Given the description of an element on the screen output the (x, y) to click on. 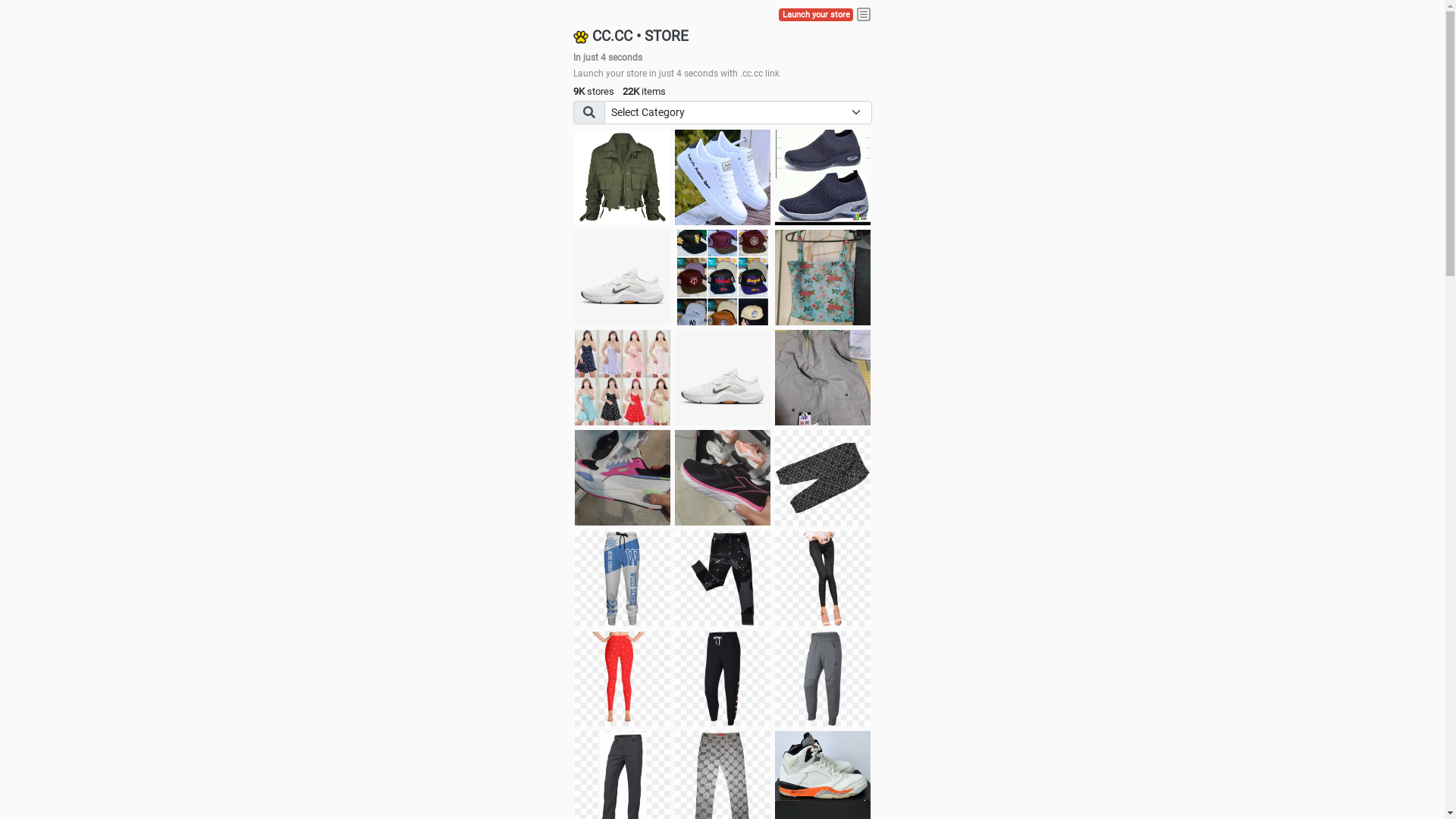
Pant Element type: hover (822, 578)
Zapatillas pumas Element type: hover (622, 477)
Ukay cloth Element type: hover (822, 277)
white shoes Element type: hover (722, 177)
Pant Element type: hover (822, 678)
Short pant Element type: hover (822, 477)
Shoes Element type: hover (722, 377)
Things we need Element type: hover (722, 277)
jacket Element type: hover (622, 177)
Launch your store Element type: text (815, 14)
Shoes for boys Element type: hover (622, 277)
Pant Element type: hover (622, 678)
Dress/square nect top Element type: hover (622, 377)
Pant Element type: hover (722, 678)
Pant Element type: hover (622, 578)
Zapatillas Element type: hover (722, 477)
shoes for boys Element type: hover (822, 177)
Pant Element type: hover (722, 578)
